Given the description of an element on the screen output the (x, y) to click on. 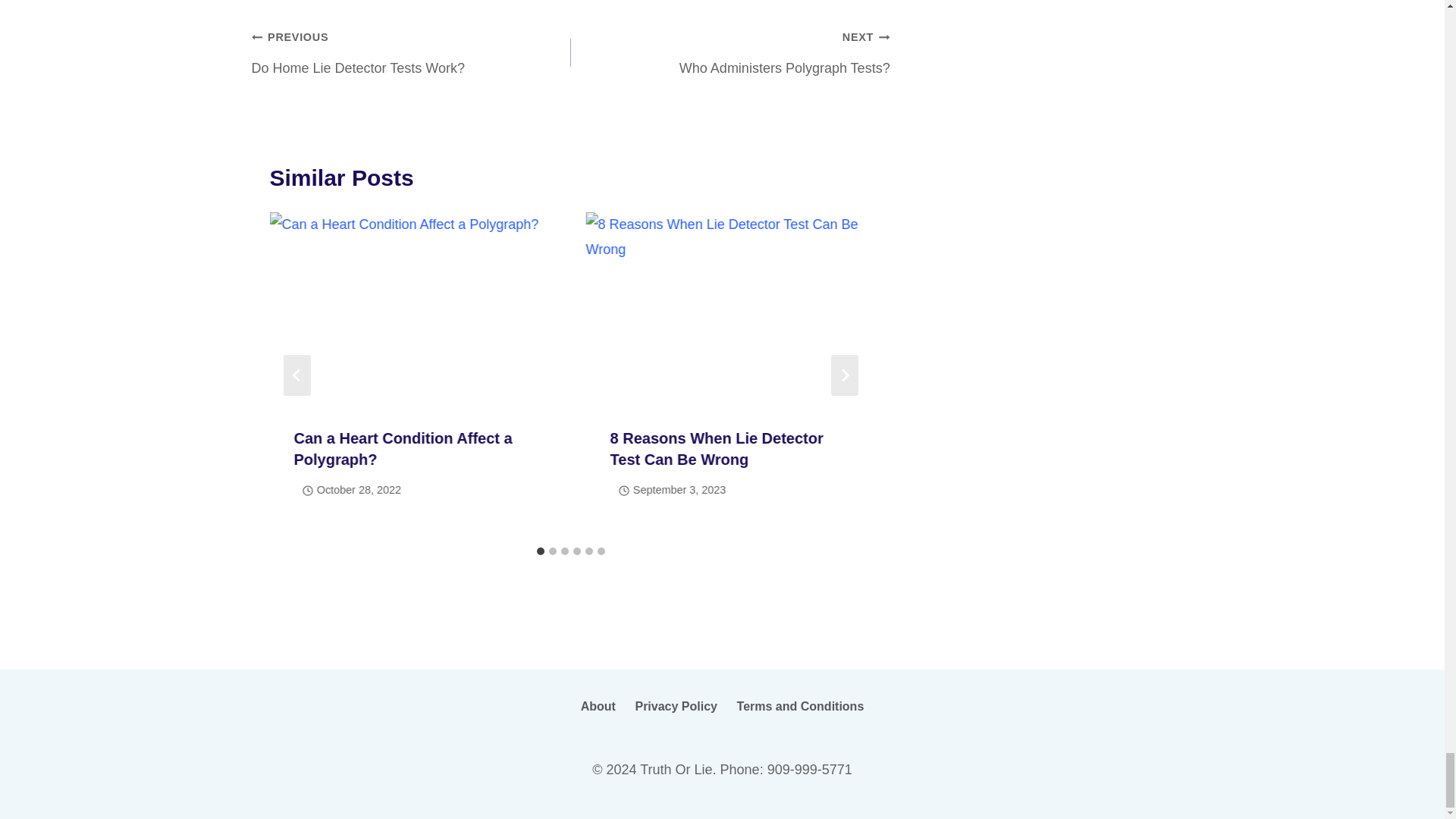
Can a Heart Condition Affect a Polygraph? (729, 52)
8 Reasons When Lie Detector Test Can Be Wrong (403, 448)
